Given the description of an element on the screen output the (x, y) to click on. 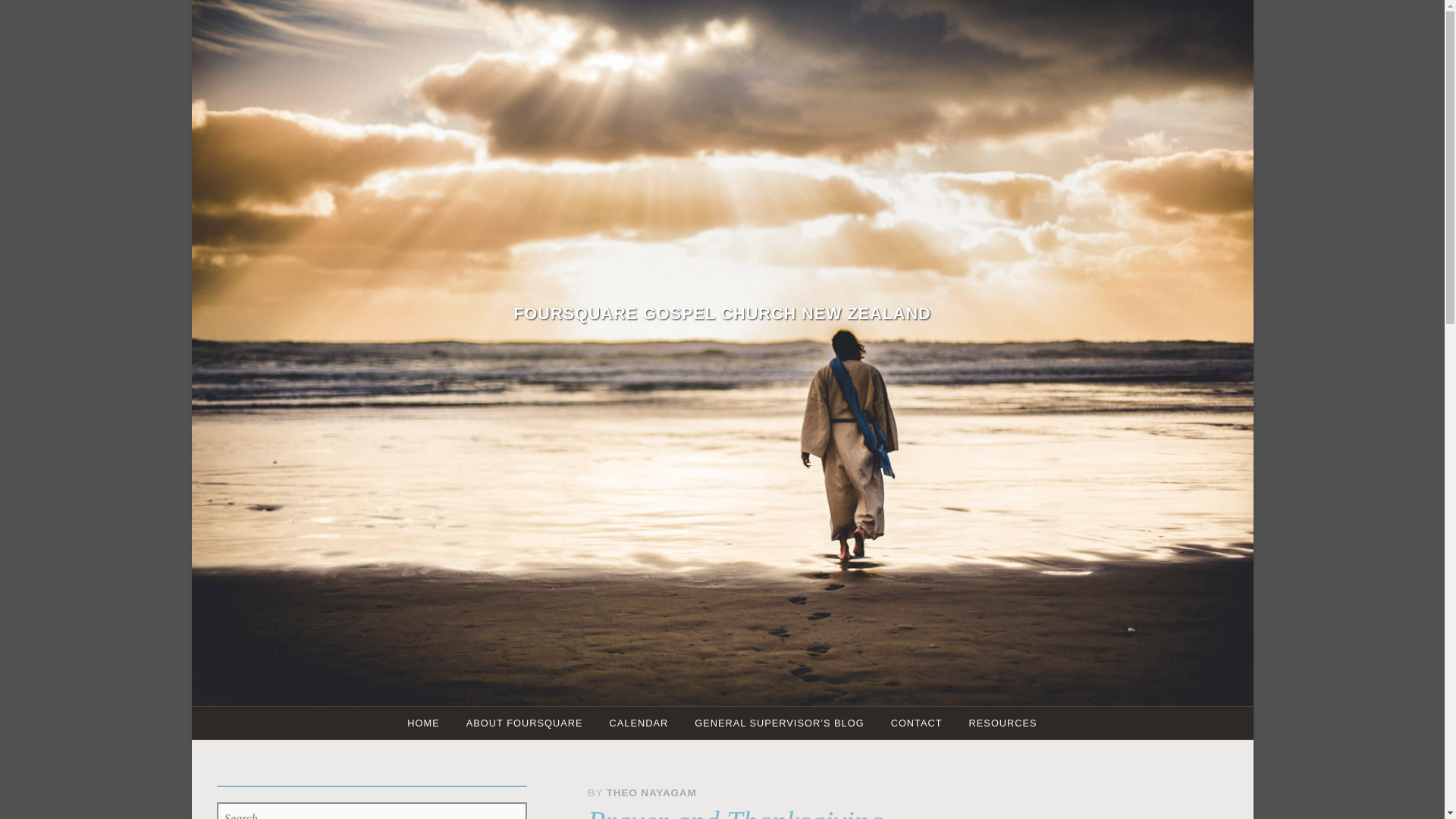
RESOURCES (1003, 722)
THEO NAYAGAM (652, 792)
ABOUT FOURSQUARE (524, 722)
CALENDAR (637, 722)
HOME (422, 722)
Search (62, 18)
CONTACT (916, 722)
Foursquare Gospel Church New Zealand (721, 312)
FOURSQUARE GOSPEL CHURCH NEW ZEALAND (721, 312)
